Given the description of an element on the screen output the (x, y) to click on. 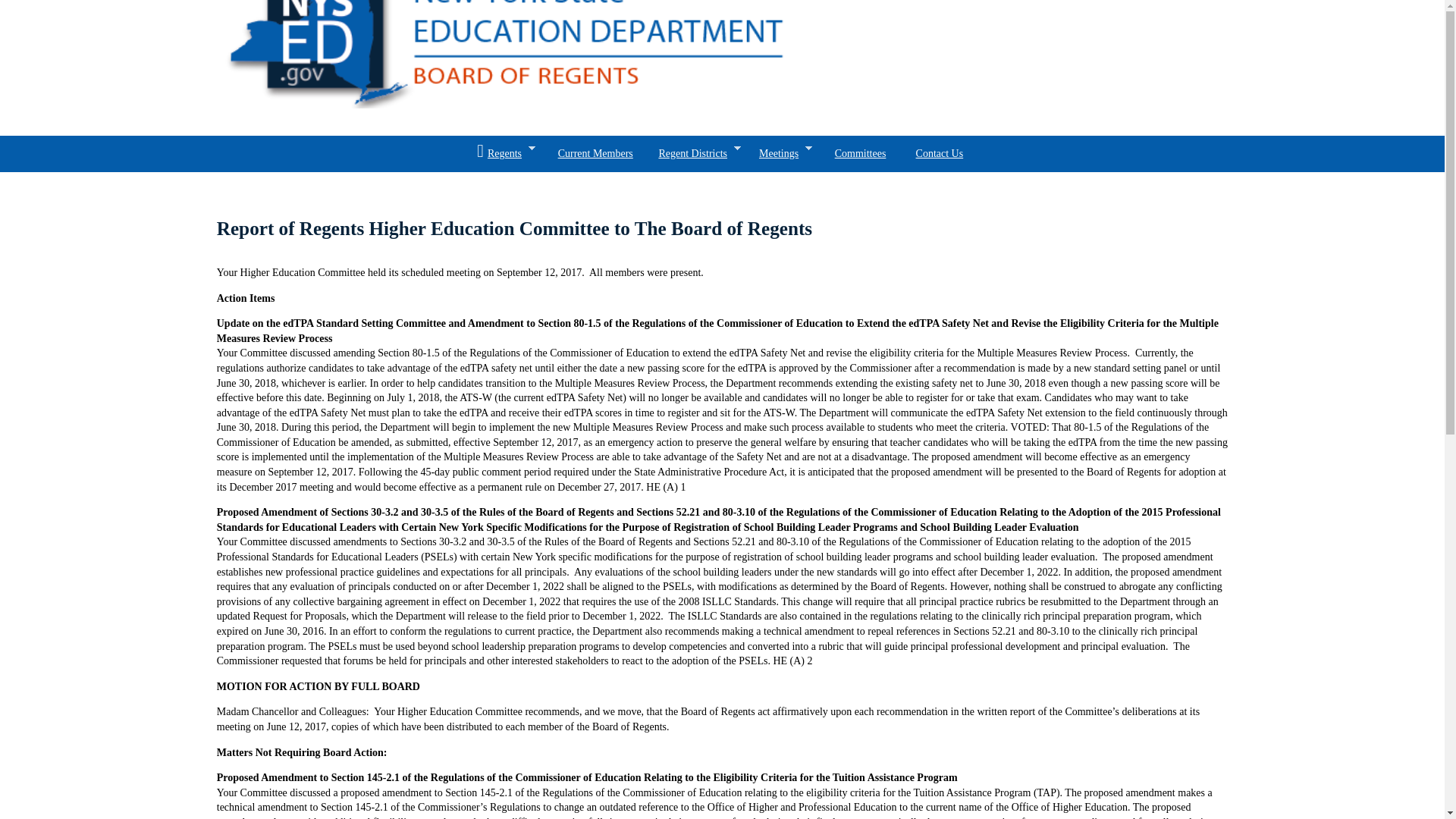
Committees (860, 153)
Contact Us (939, 153)
Current Members (595, 153)
